Given the description of an element on the screen output the (x, y) to click on. 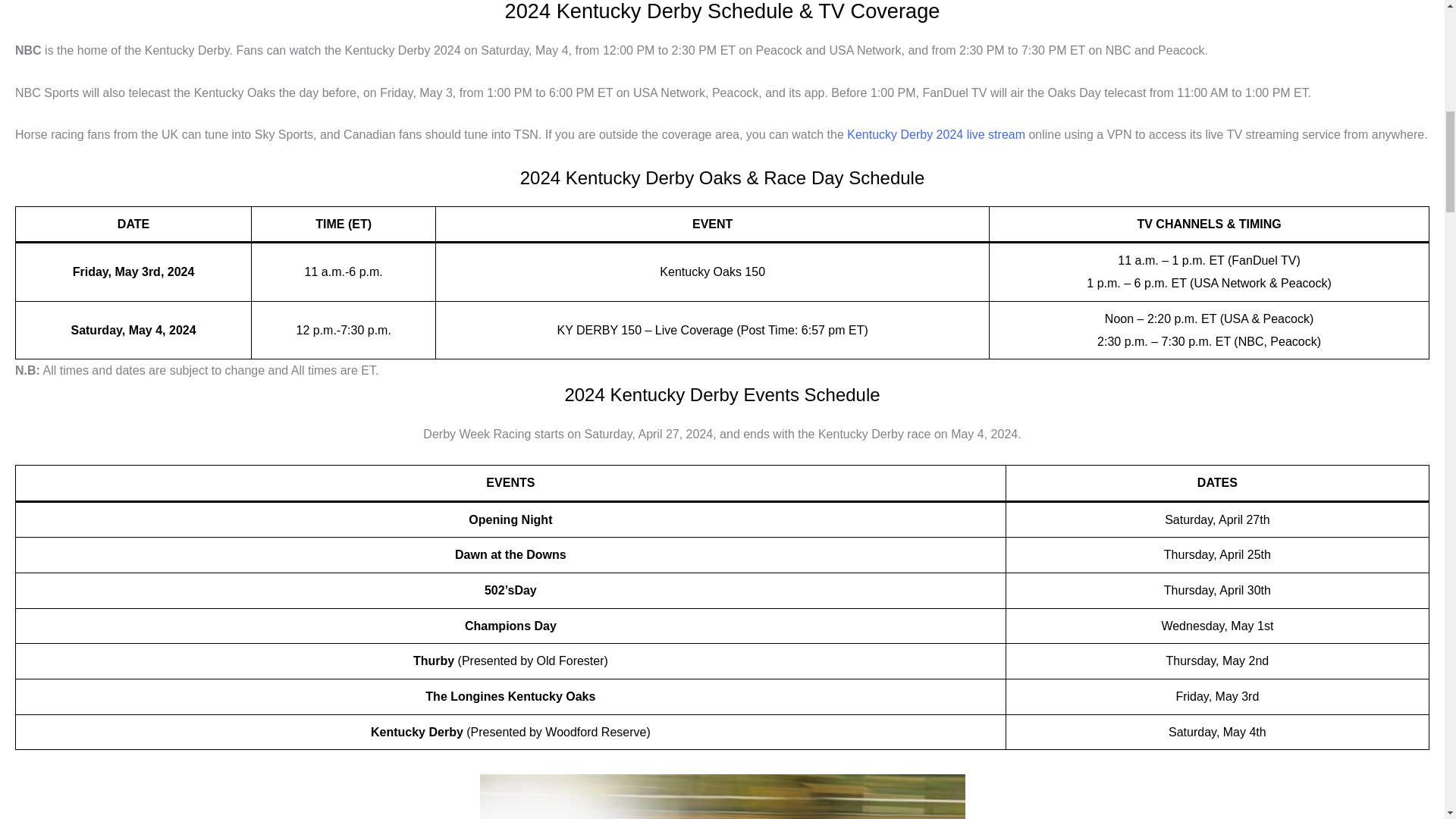
Kentucky Derby 2024 live stream (936, 133)
